Given the description of an element on the screen output the (x, y) to click on. 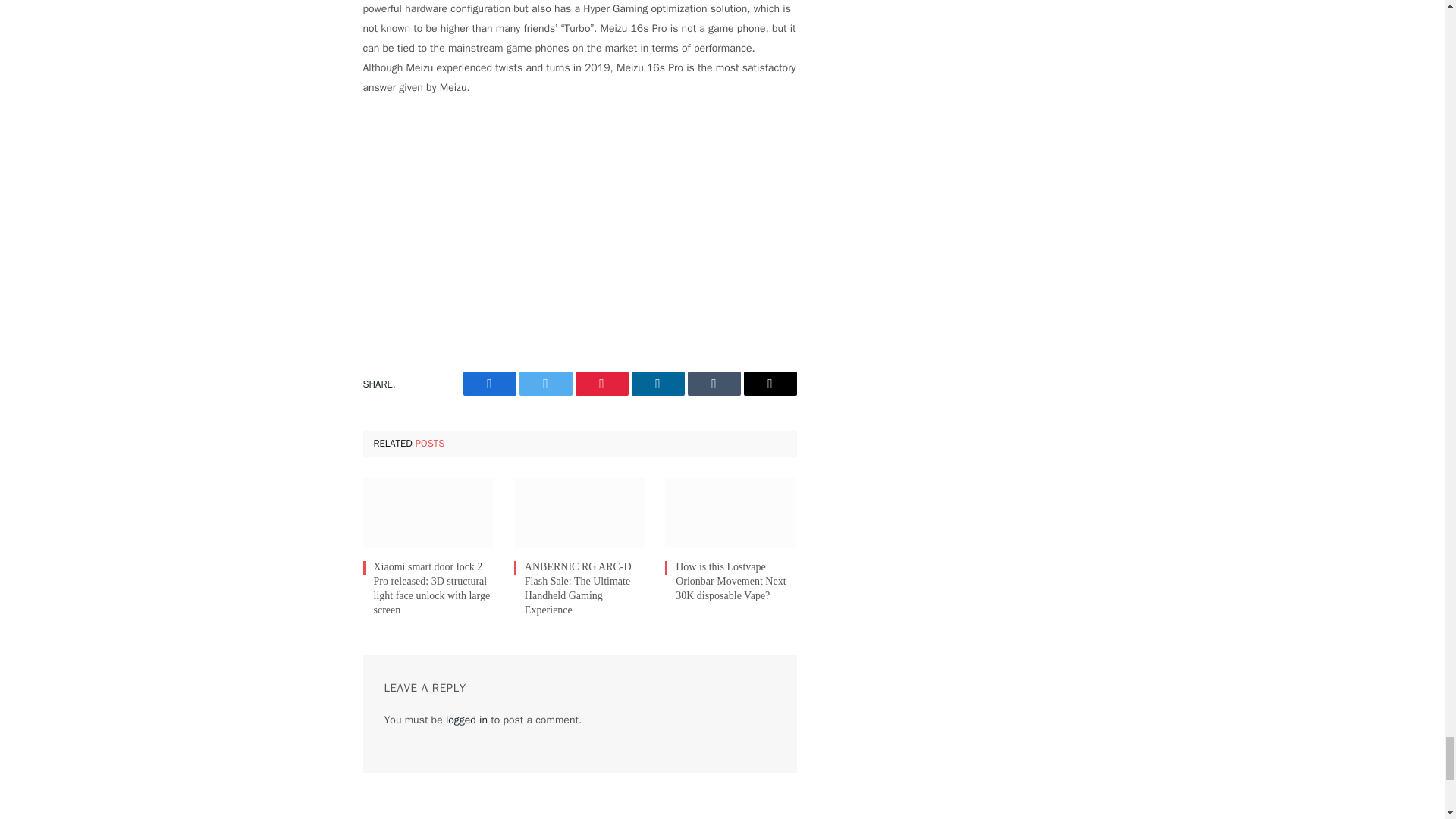
Share on Twitter (545, 383)
Share on Pinterest (601, 383)
Share on Facebook (489, 383)
